Given the description of an element on the screen output the (x, y) to click on. 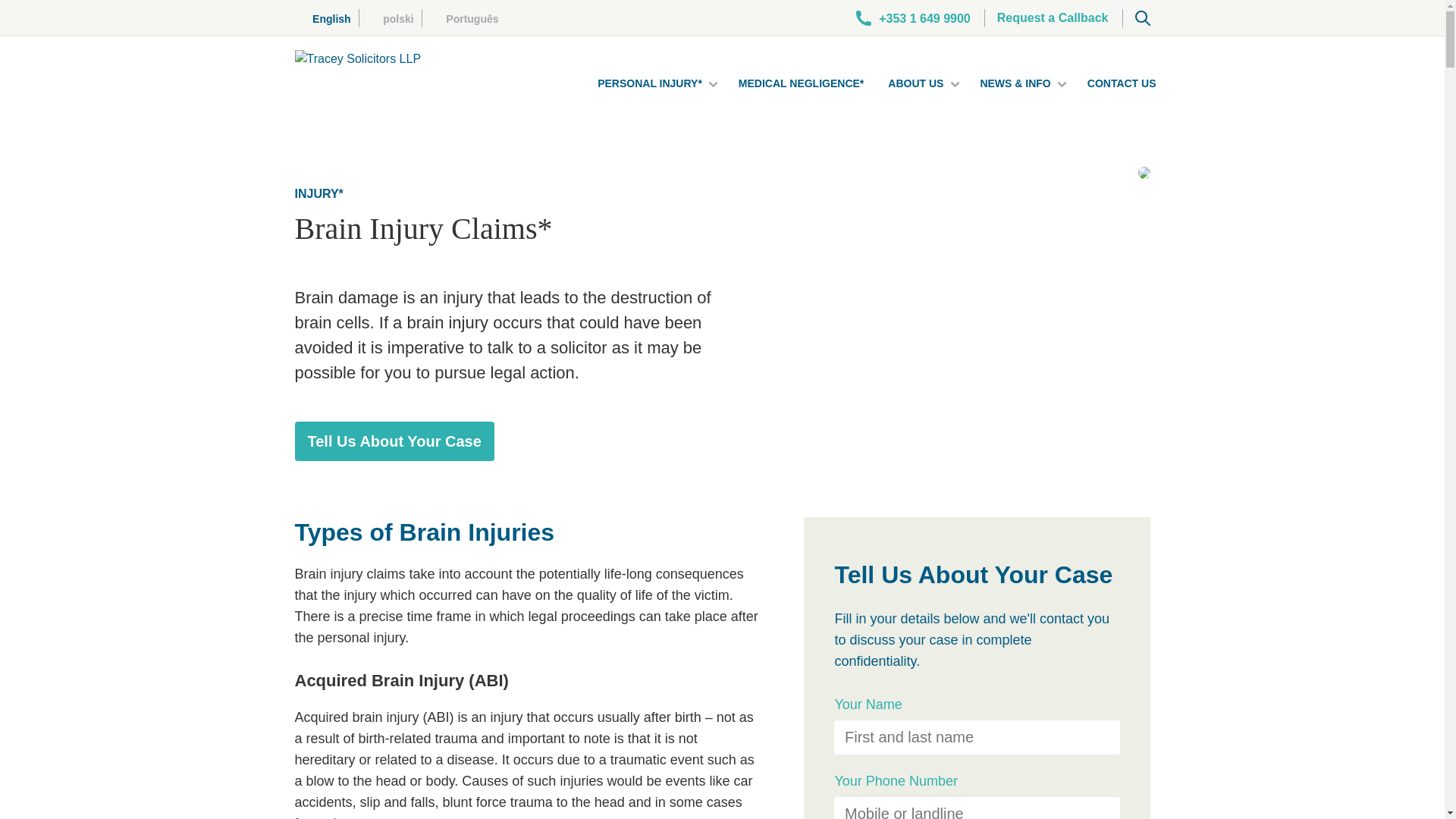
ABOUT US (915, 83)
CONTACT US (1121, 83)
Send (722, 644)
Tell Us About Your Case (393, 441)
Request a Callback (1052, 18)
English (328, 18)
polski (390, 19)
